Given the description of an element on the screen output the (x, y) to click on. 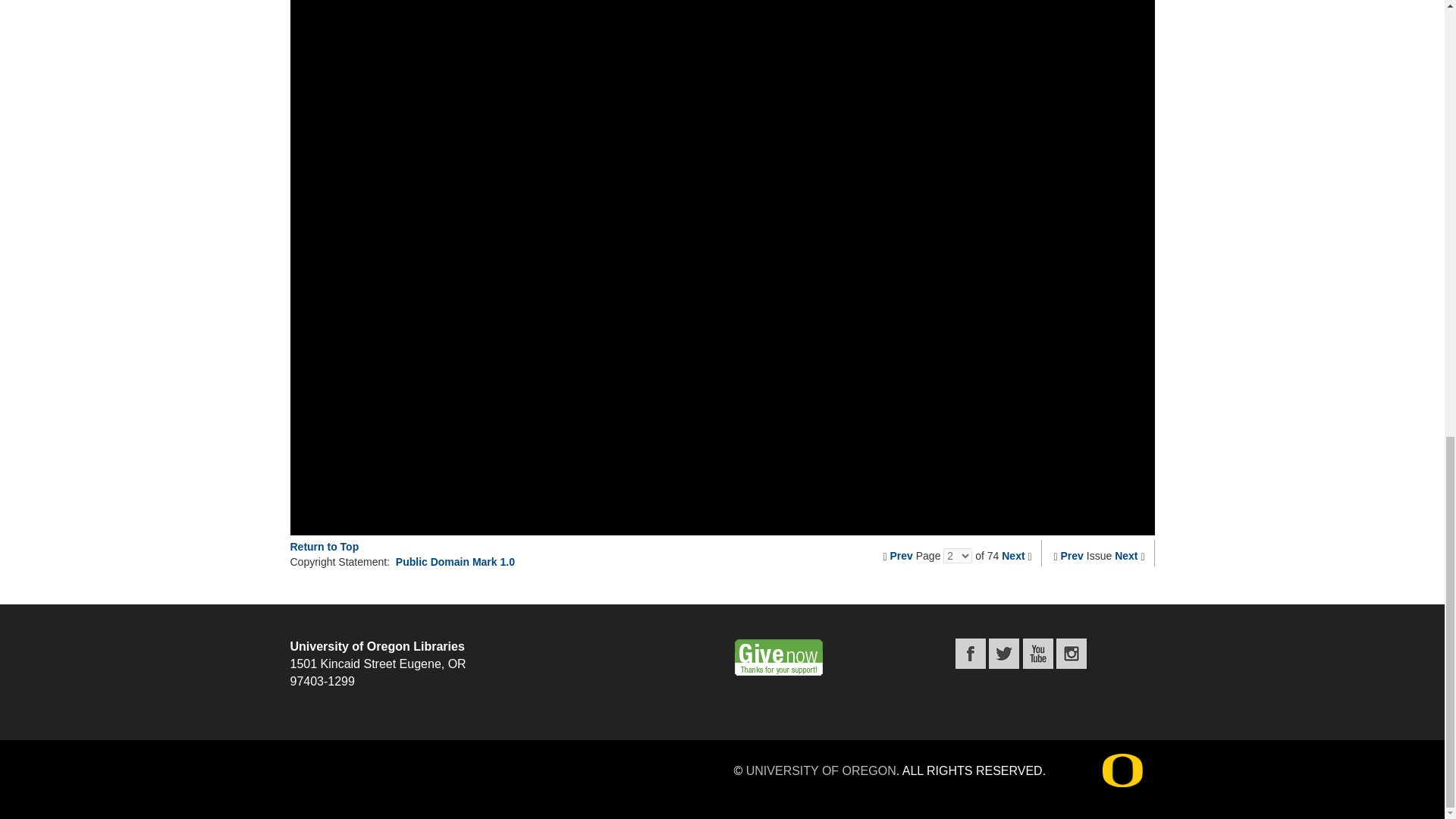
Prev (1072, 555)
Next (1126, 555)
Public Domain Mark 1.0 (455, 562)
Next (1013, 555)
Prev (900, 555)
Return to Top (323, 546)
